Given the description of an element on the screen output the (x, y) to click on. 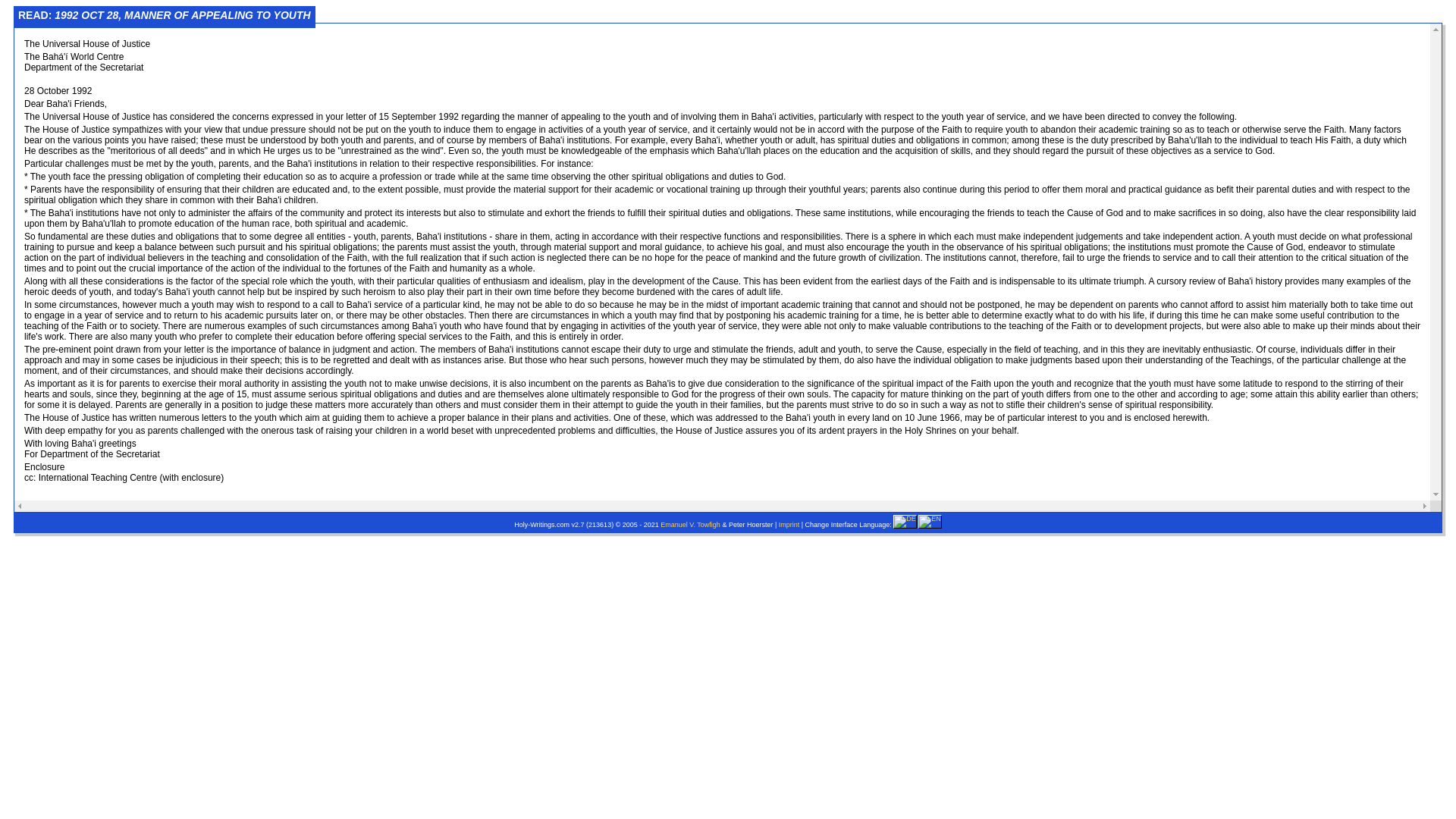
Imprint (788, 524)
DE (905, 521)
EN (930, 521)
READ: 1992 OCT 28, MANNER OF APPEALING TO YOUTH (164, 14)
Emanuel V. Towfigh (690, 524)
